Given the description of an element on the screen output the (x, y) to click on. 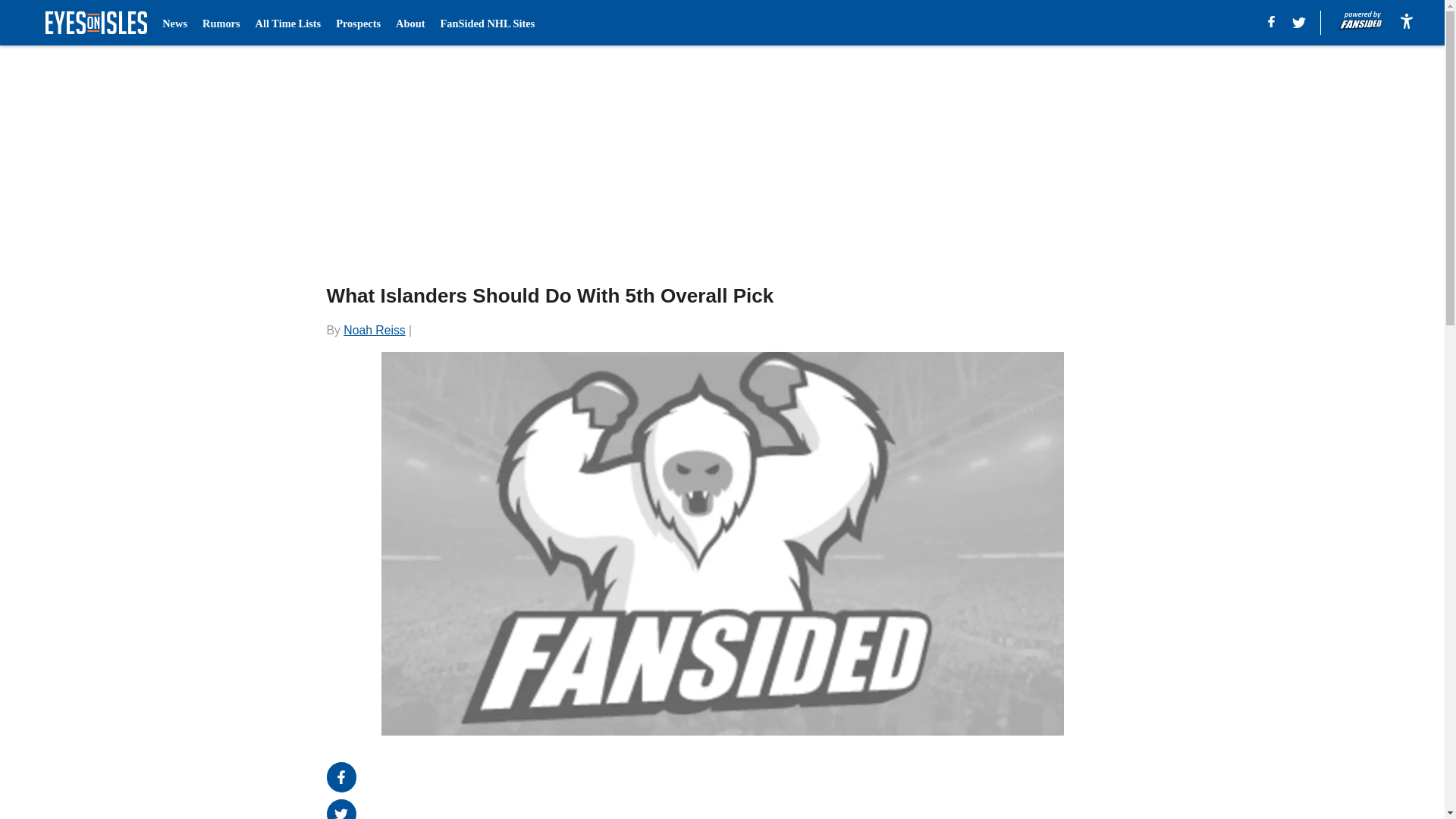
About (410, 23)
Prospects (358, 23)
Rumors (221, 23)
All Time Lists (288, 23)
Noah Reiss (373, 329)
News (174, 23)
FanSided NHL Sites (486, 23)
